Given the description of an element on the screen output the (x, y) to click on. 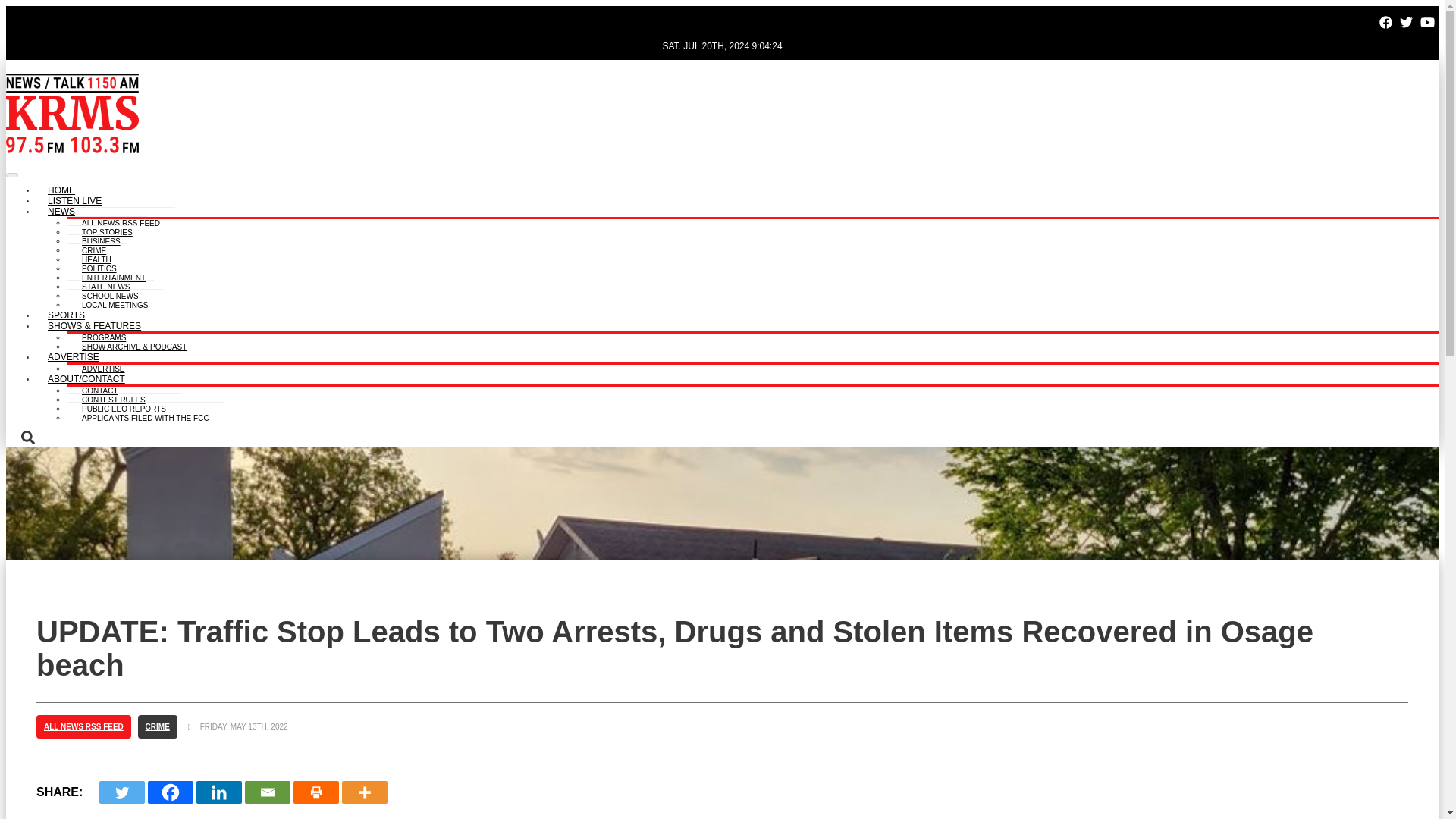
All News RSS Feed (120, 221)
SPORTS (66, 315)
CONTACT (99, 388)
Politics (99, 266)
CRIME (93, 248)
CONTEST RULES (113, 397)
ALL NEWS RSS FEED (120, 221)
BUSINESS (100, 239)
ADVERTISE (73, 357)
APPLICANTS FILED WITH THE FCC (145, 415)
News (61, 212)
ADVERTISE (102, 366)
Top Stories (107, 230)
LISTEN LIVE (74, 201)
NEWS (61, 212)
